Given the description of an element on the screen output the (x, y) to click on. 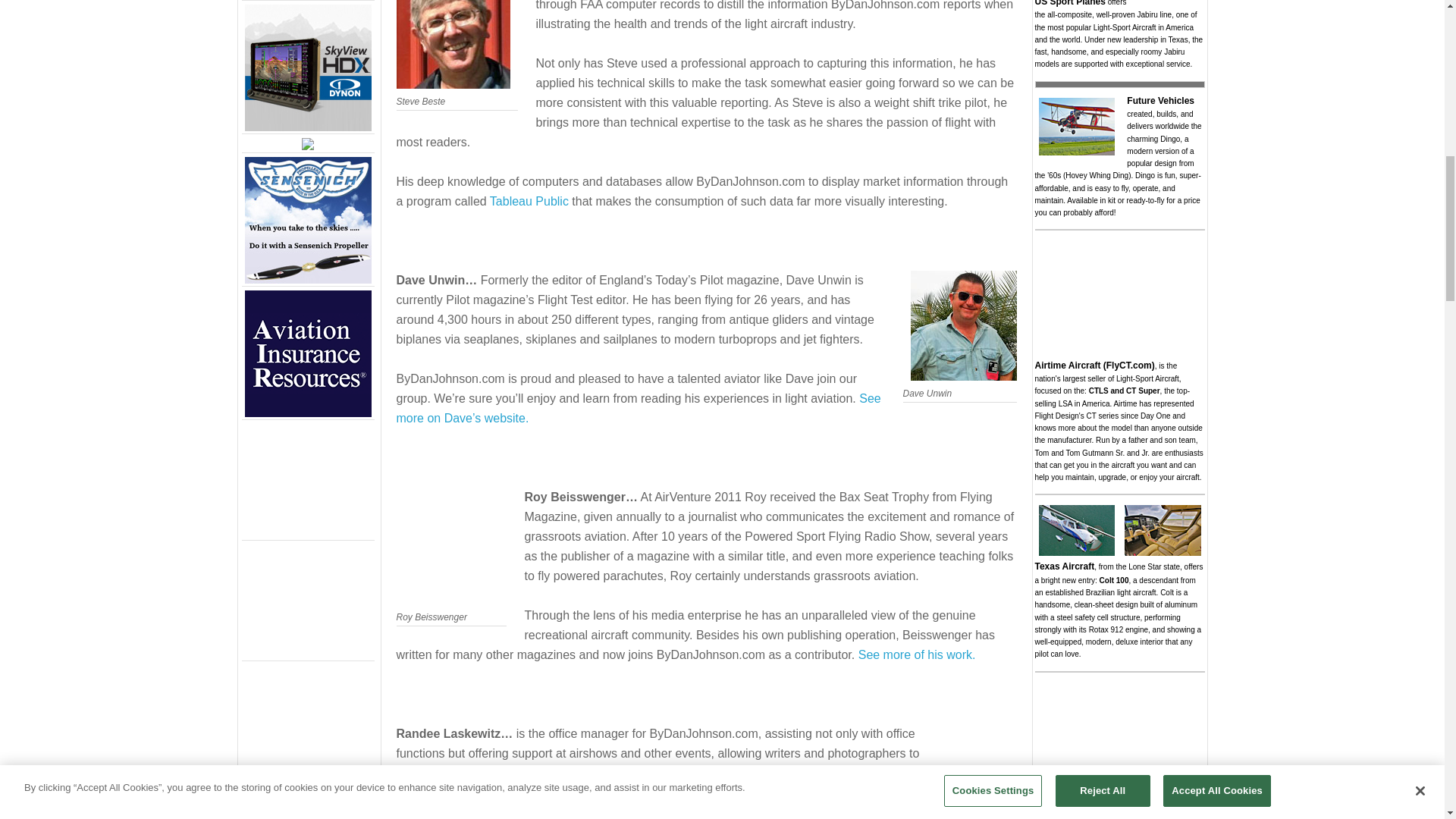
Tableau Public (529, 201)
See more of his work. (917, 654)
